Given the description of an element on the screen output the (x, y) to click on. 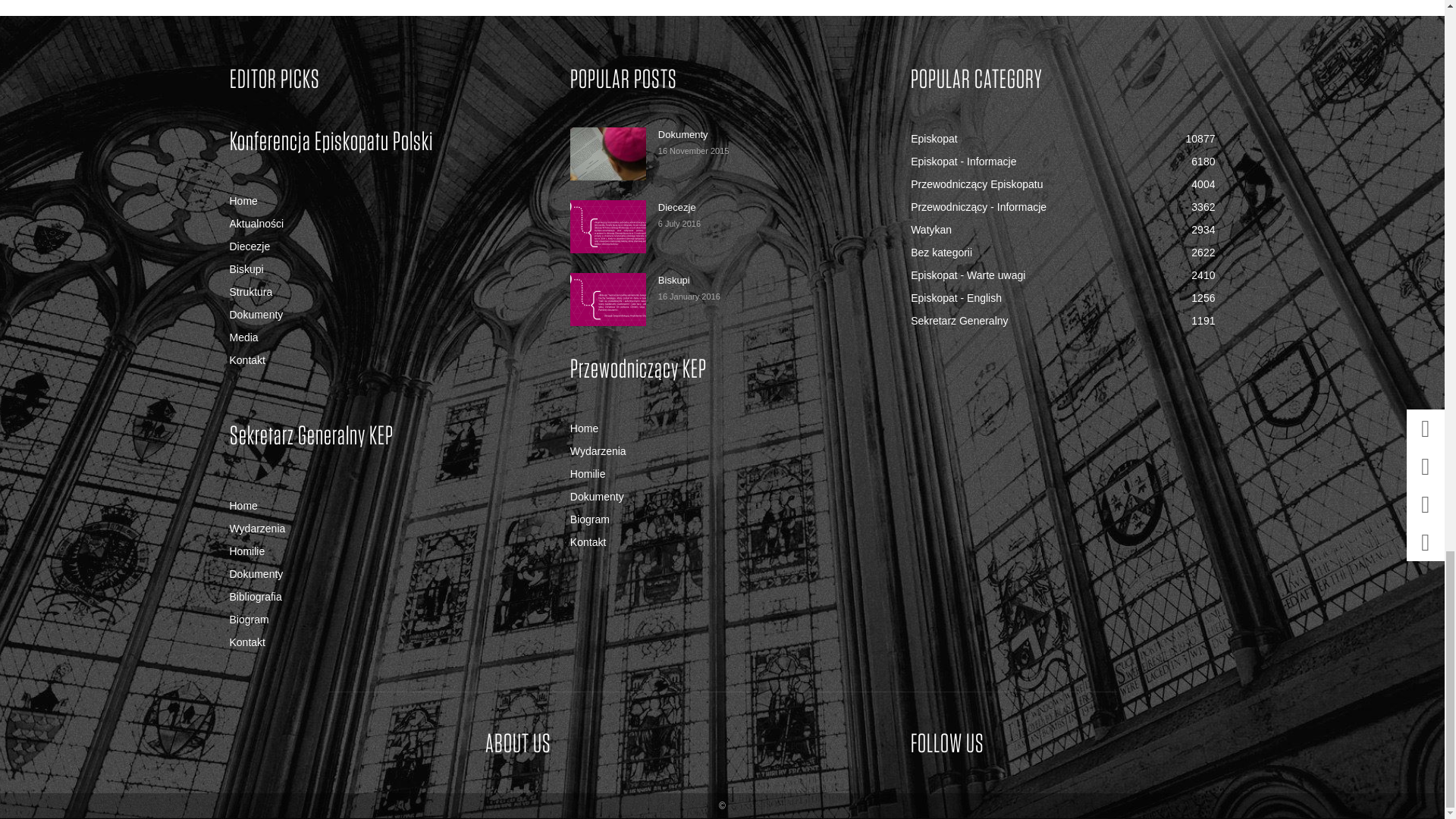
Dokumenty (608, 153)
